Given the description of an element on the screen output the (x, y) to click on. 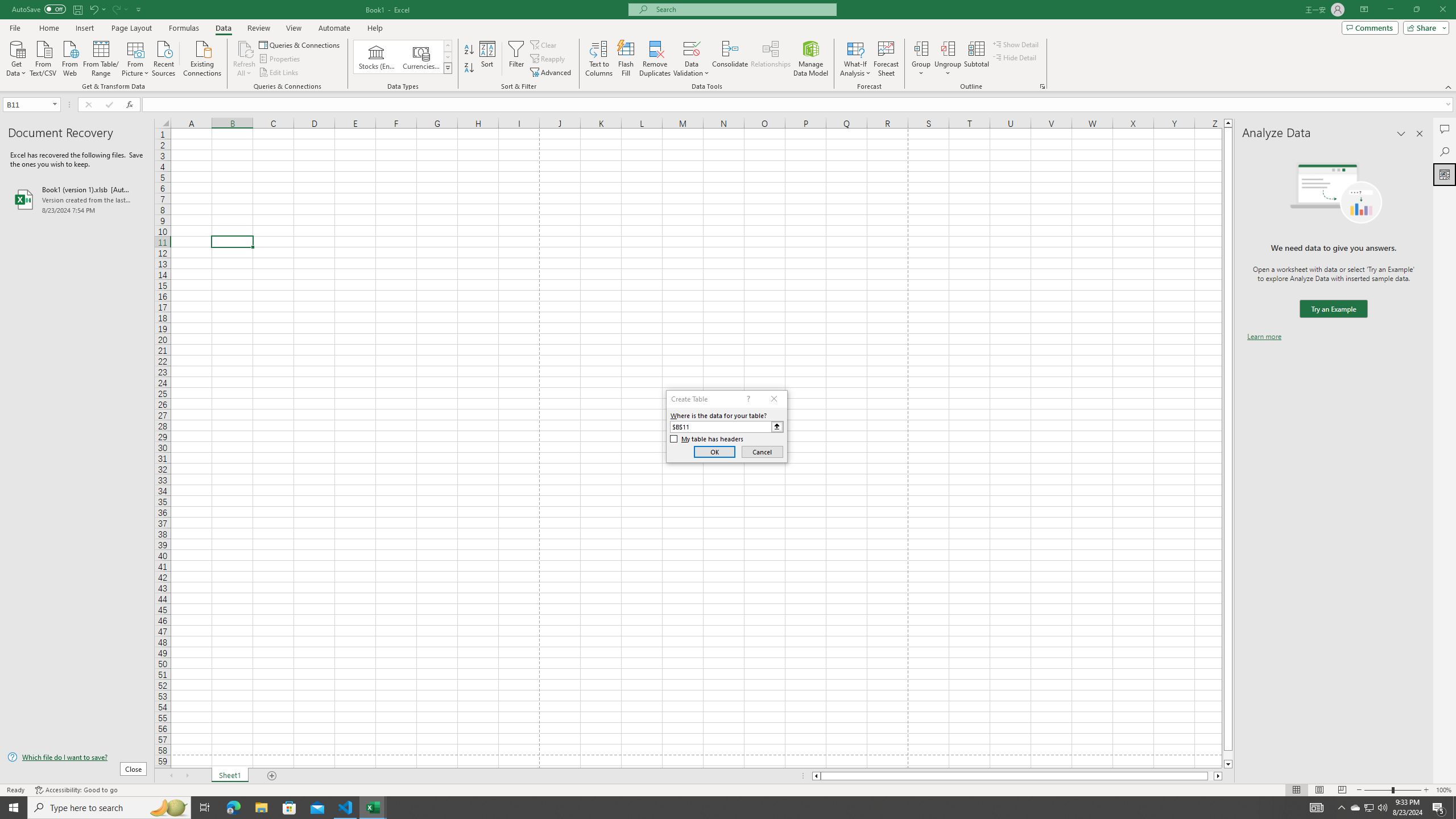
Sort... (487, 58)
Text to Columns... (598, 58)
From Table/Range (100, 57)
Existing Connections (202, 57)
Properties (280, 58)
Share (1423, 27)
Data (223, 28)
Row up (448, 45)
Scroll Right (187, 775)
Open (54, 104)
Zoom In (1426, 790)
Search (1444, 151)
Learn more (1264, 336)
Line down (1228, 764)
